Given the description of an element on the screen output the (x, y) to click on. 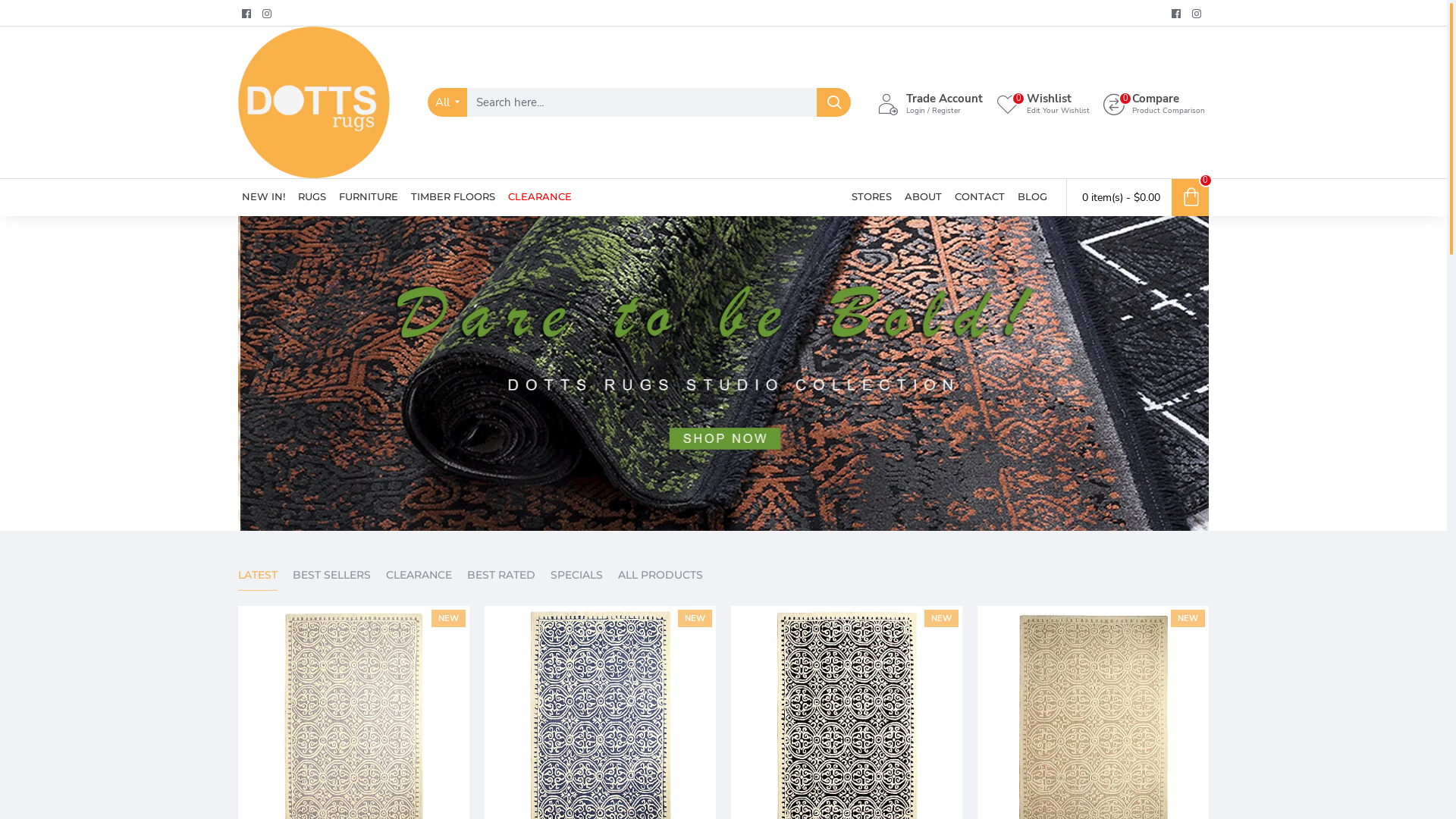
CONTACT Element type: text (979, 196)
Wishlist
Edit Your Wishlist
0 Element type: text (1042, 102)
BEST SELLERS Element type: text (331, 578)
ALL PRODUCTS Element type: text (660, 578)
CLEARANCE Element type: text (418, 578)
BLOG Element type: text (1032, 196)
STORES Element type: text (871, 196)
FURNITURE Element type: text (368, 196)
RUGS Element type: text (311, 196)
NEW IN! Element type: text (263, 196)
BEST RATED Element type: text (501, 578)
Trade Account
Login / Register Element type: text (929, 102)
TIMBER FLOORS Element type: text (452, 196)
0 item(s) - $0.00
0 Element type: text (1137, 197)
ABOUT Element type: text (922, 196)
Dotts Rugs Element type: hover (313, 102)
CLEARANCE Element type: text (539, 196)
LATEST Element type: text (257, 578)
Compare
Product Comparison
0 Element type: text (1153, 102)
SPECIALS Element type: text (576, 578)
